Given the description of an element on the screen output the (x, y) to click on. 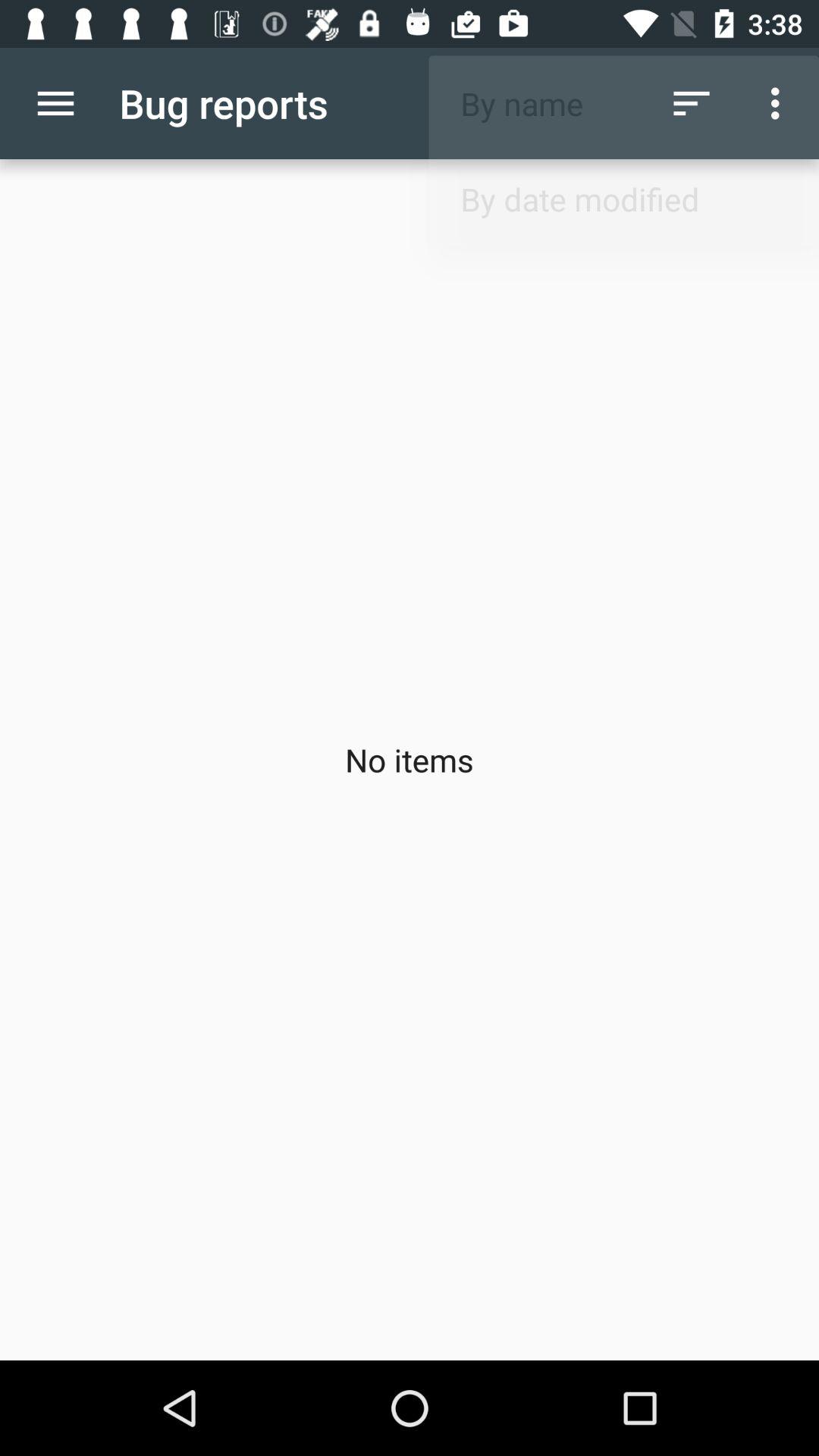
tap app to the right of the bug reports (691, 103)
